Given the description of an element on the screen output the (x, y) to click on. 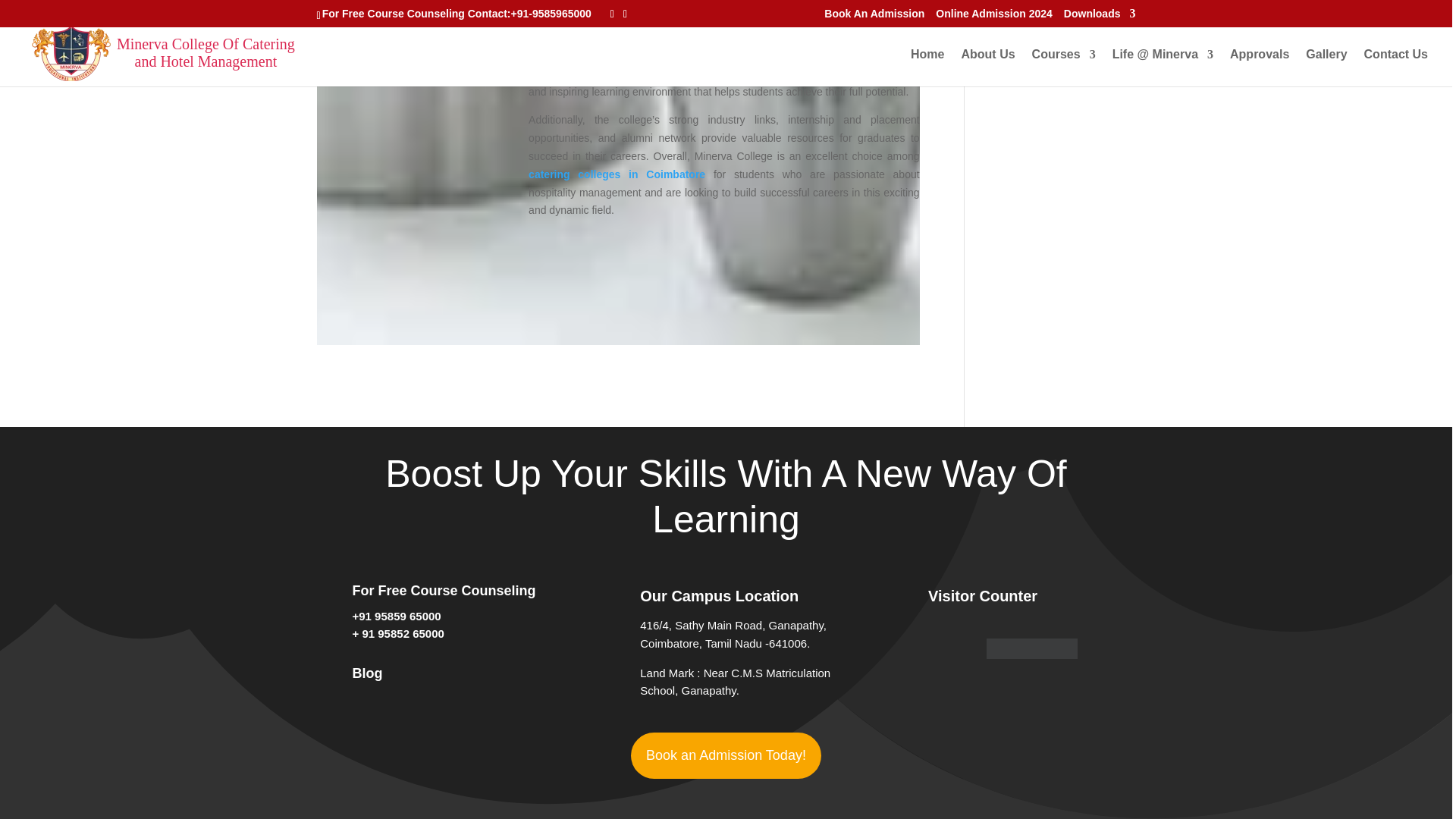
Catering colleges in Coimbatore (406, 41)
